Given the description of an element on the screen output the (x, y) to click on. 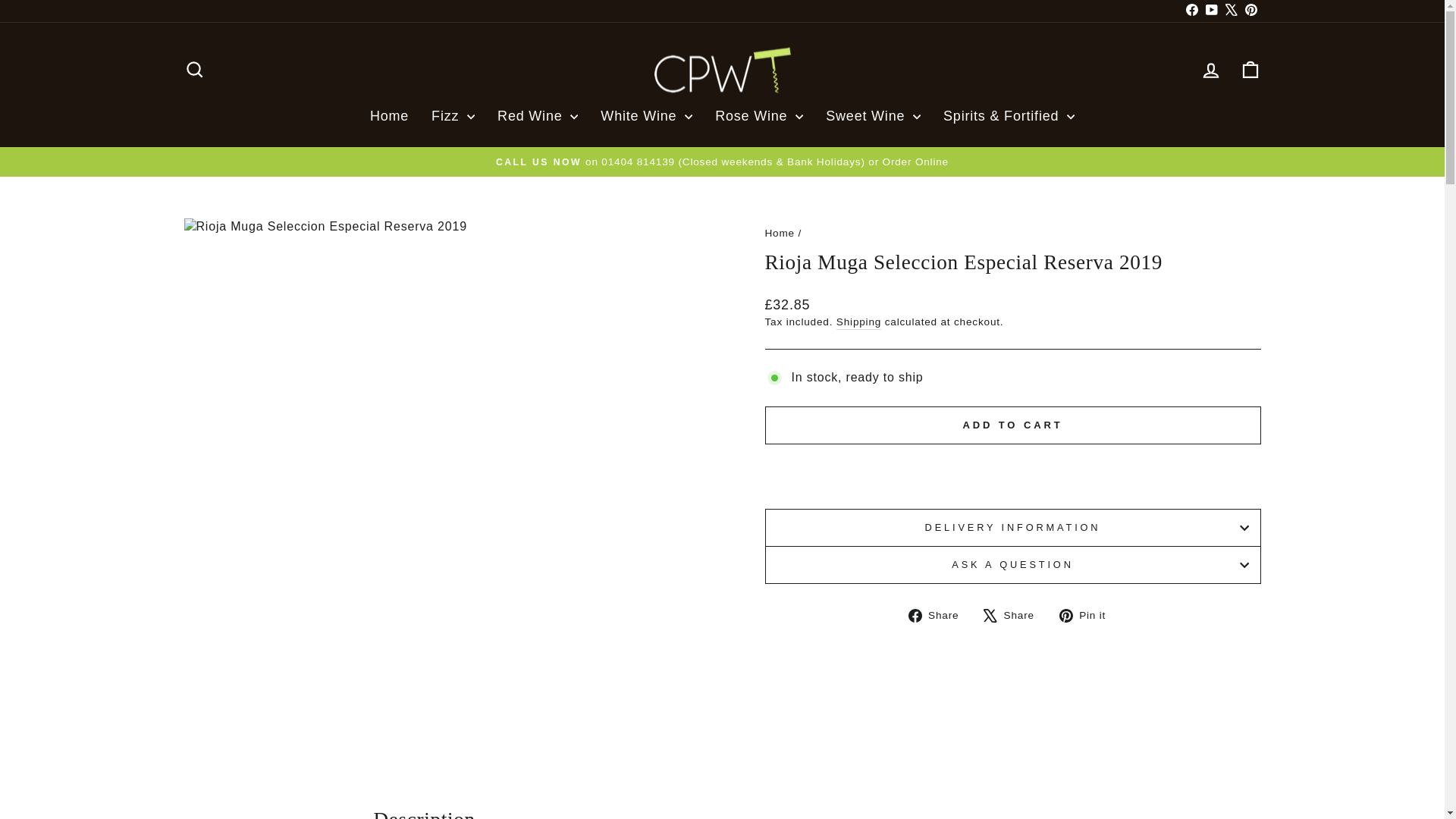
Christopher Piper Wines Ltd on Facebook (1190, 11)
icon-bag-minimal (1249, 69)
Share on Facebook (939, 614)
icon-search (194, 69)
Tweet on X (1014, 614)
account (1210, 70)
Back to the frontpage (778, 233)
Christopher Piper Wines Ltd on X (1230, 11)
Christopher Piper Wines Ltd on Pinterest (1250, 11)
Christopher Piper Wines Ltd on YouTube (1211, 11)
